Given the description of an element on the screen output the (x, y) to click on. 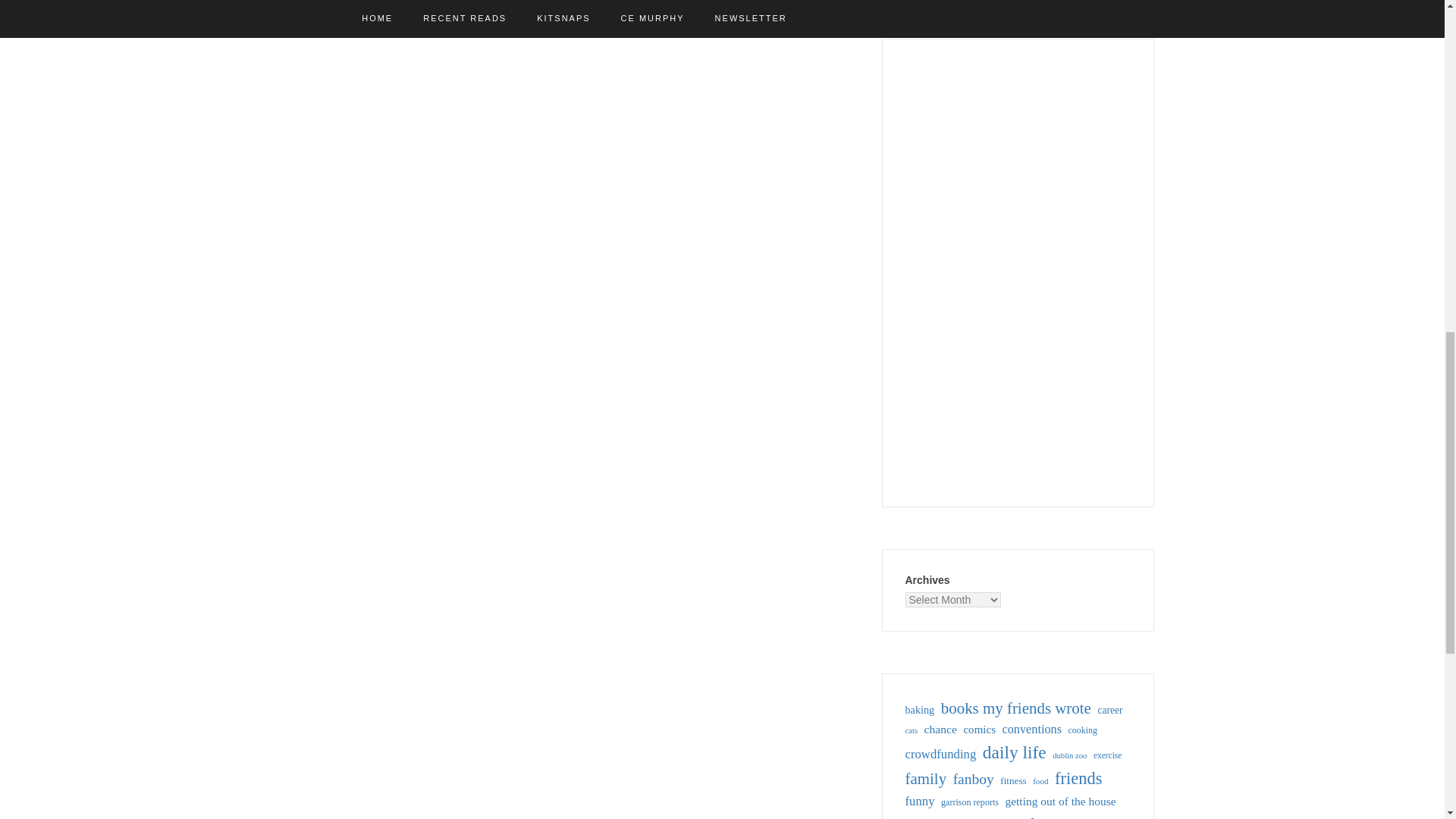
career (1109, 710)
books my friends wrote (1015, 708)
family (926, 779)
friends (1078, 778)
conventions (1032, 729)
fitness (1013, 780)
kickstarter (961, 817)
food (1040, 780)
haus (916, 818)
dublin zoo (1069, 756)
